Given the description of an element on the screen output the (x, y) to click on. 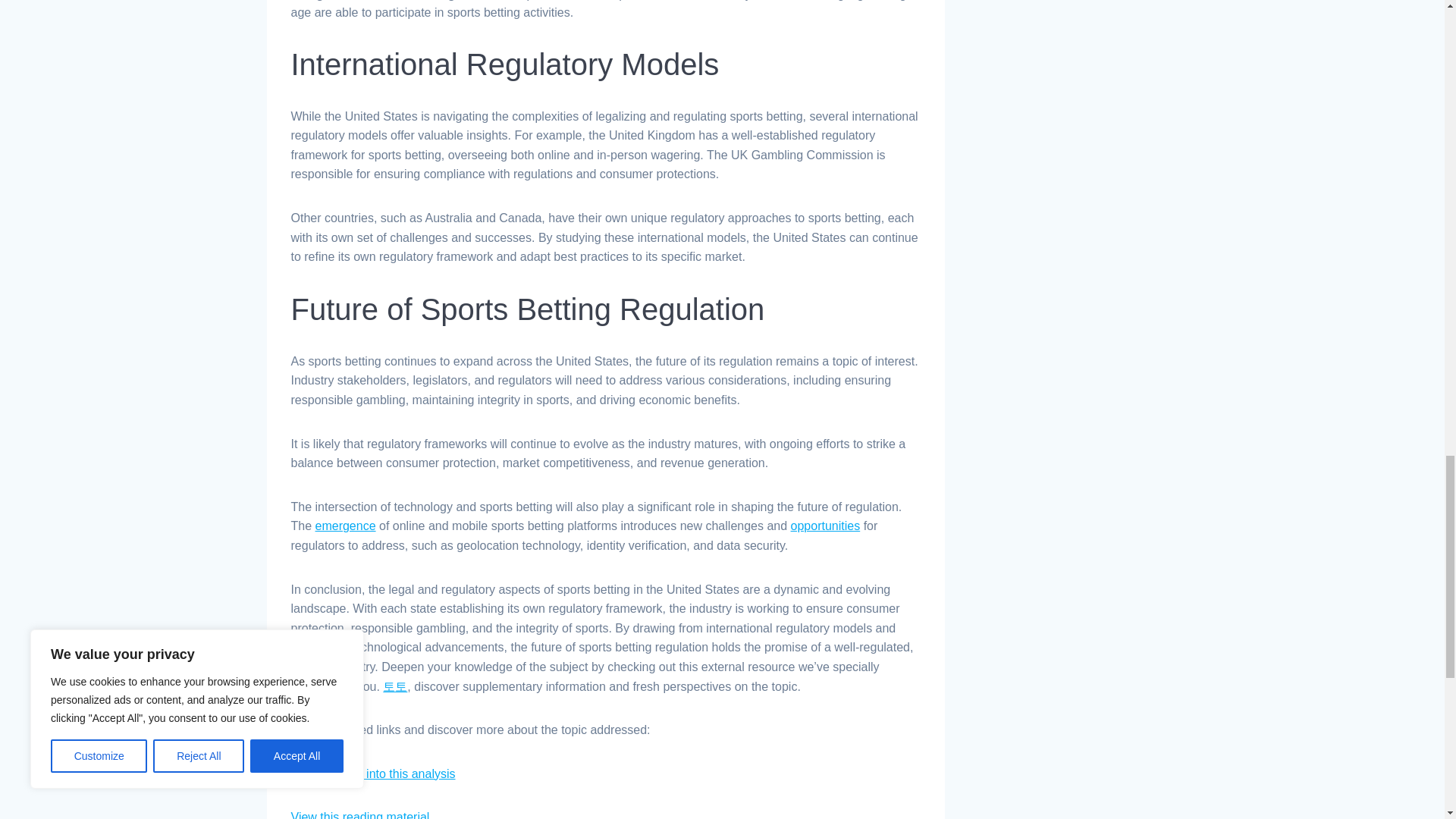
emergence (345, 525)
opportunities (825, 525)
View this reading material (360, 814)
Delve deeper into this analysis (373, 773)
